Given the description of an element on the screen output the (x, y) to click on. 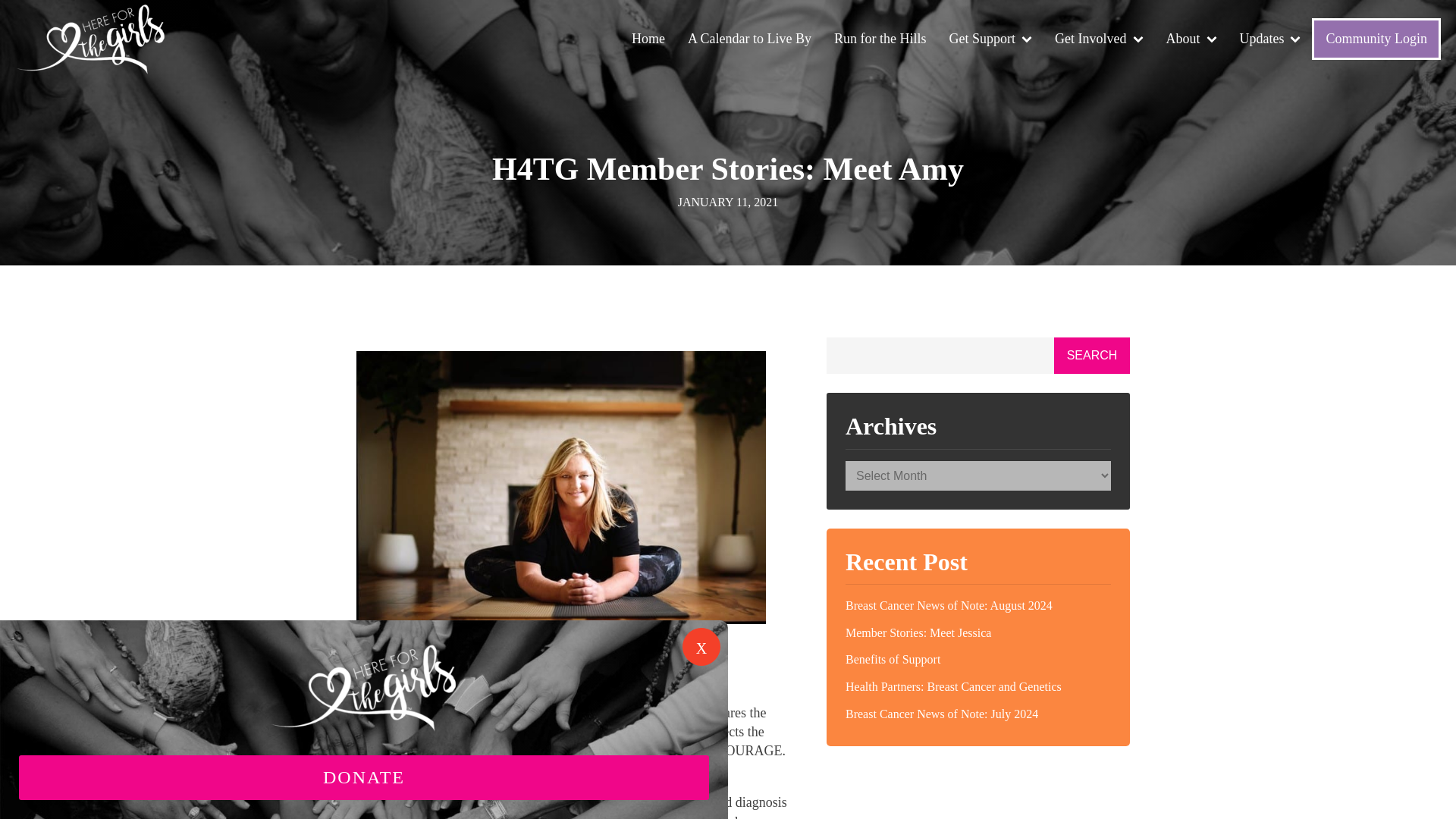
Benefits of Support (977, 659)
Breast Cancer News of Note: July 2024 (977, 714)
Home (648, 38)
Search (1091, 355)
Home (648, 38)
Run for the Hills (879, 38)
About (1190, 38)
Community Login (1376, 38)
Community Login (1376, 38)
Search (1091, 355)
